Given the description of an element on the screen output the (x, y) to click on. 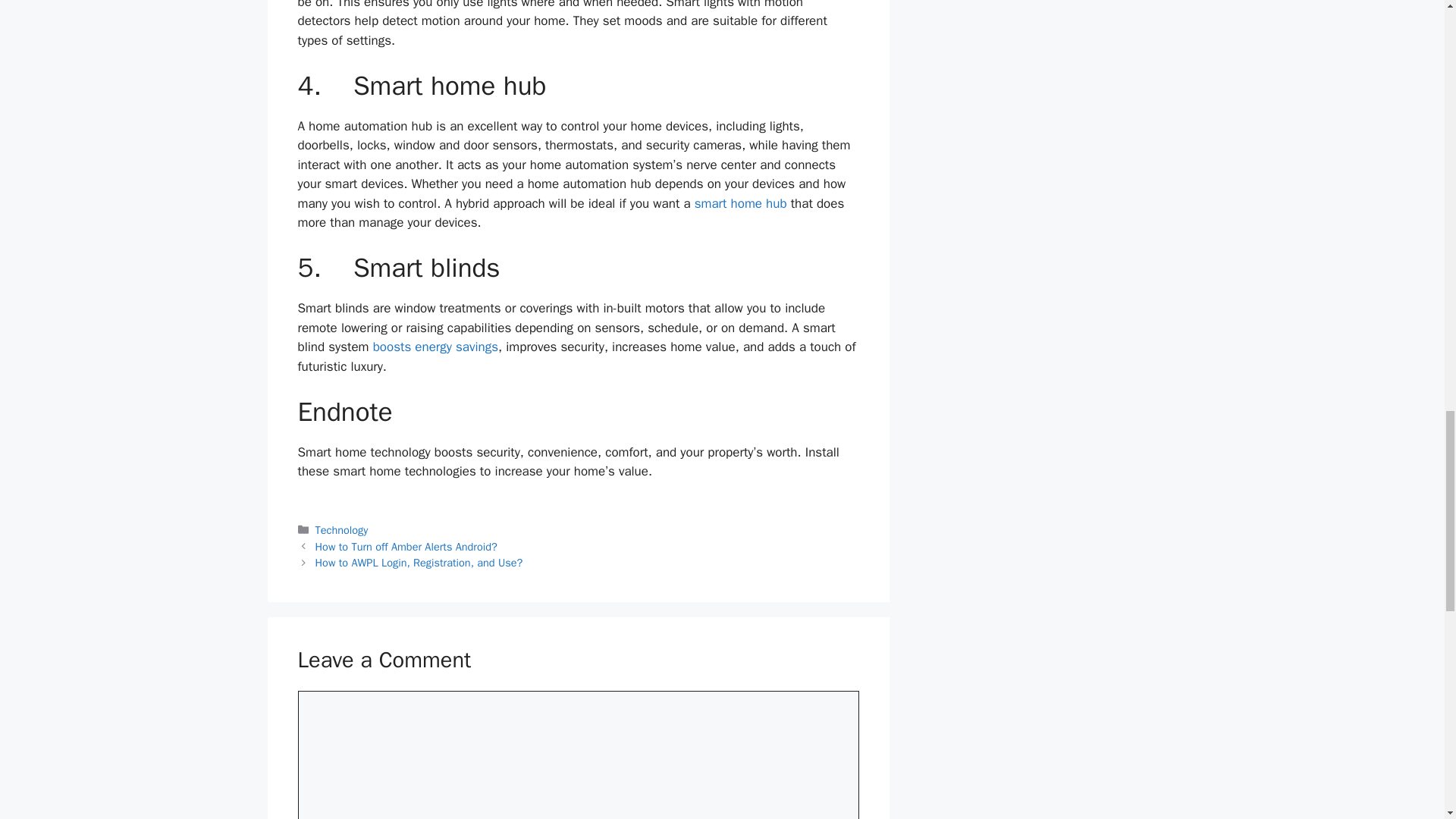
Technology (341, 530)
How to AWPL Login, Registration, and Use? (418, 562)
How to Turn off Amber Alerts Android? (406, 546)
smart home hub (740, 203)
boosts energy savings (434, 346)
